Given the description of an element on the screen output the (x, y) to click on. 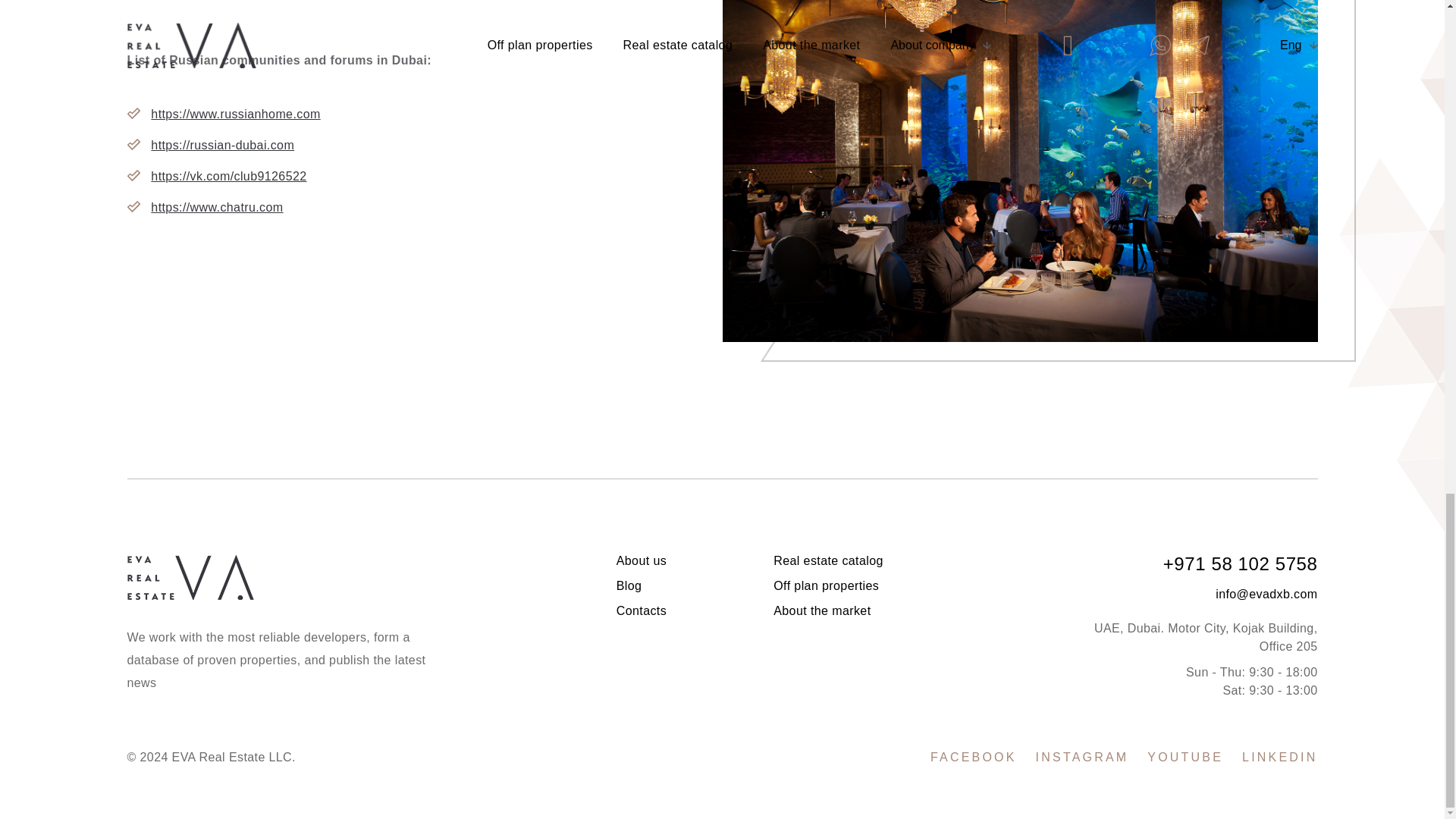
Real estate catalog (828, 560)
About the market (821, 610)
Off plan properties (826, 585)
About us (640, 560)
Blog (628, 585)
Contacts (640, 610)
INSTAGRAM (1082, 757)
YOUTUBE (1185, 757)
FACEBOOK (973, 757)
LINKEDIN (1279, 757)
